Given the description of an element on the screen output the (x, y) to click on. 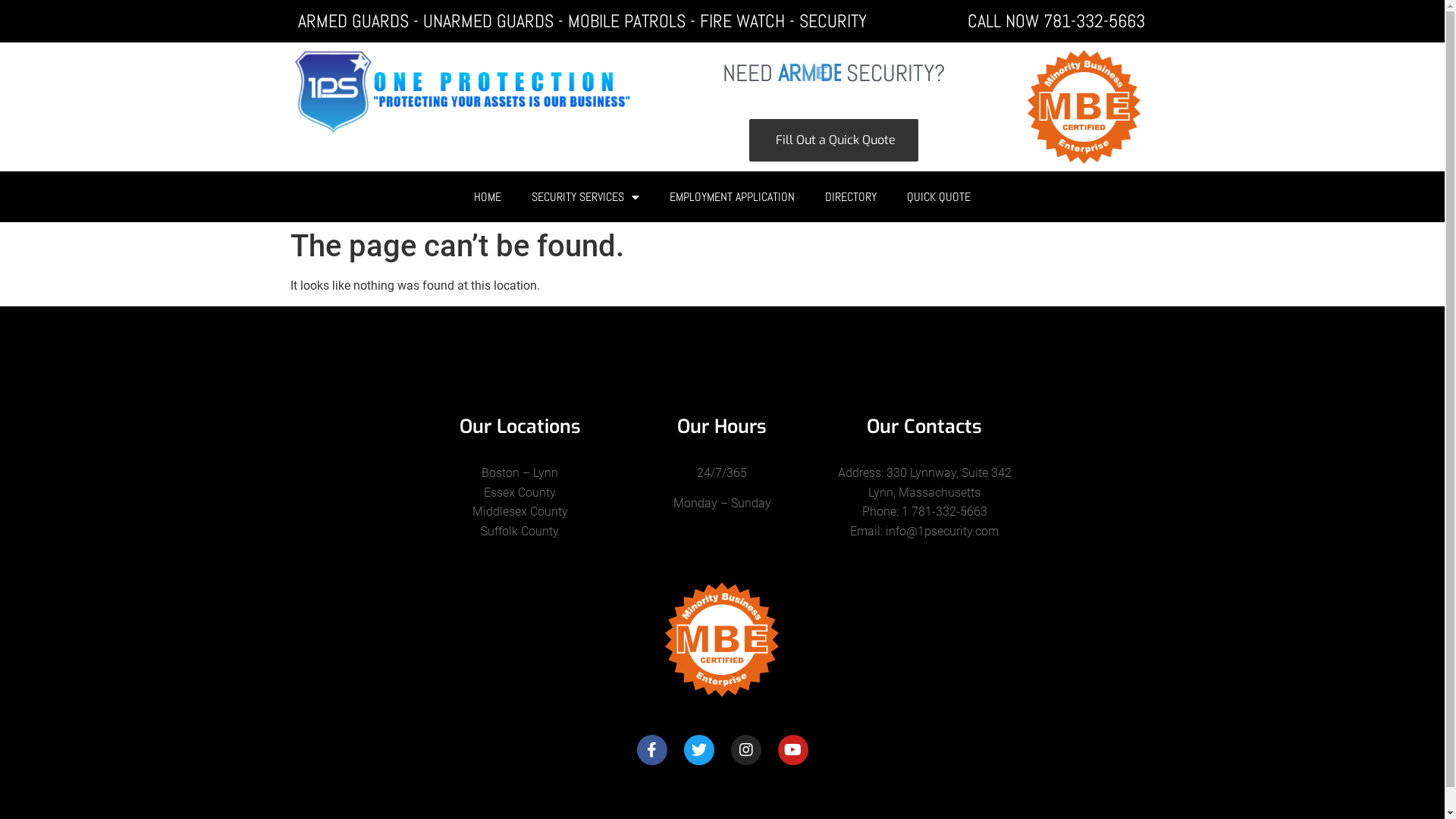
Fill Out a Quick Quote Element type: text (833, 139)
SECURITY SERVICES Element type: text (585, 196)
HOME Element type: text (487, 196)
EMPLOYMENT APPLICATION Element type: text (731, 196)
QUICK QUOTE Element type: text (938, 196)
DIRECTORY Element type: text (850, 196)
